Given the description of an element on the screen output the (x, y) to click on. 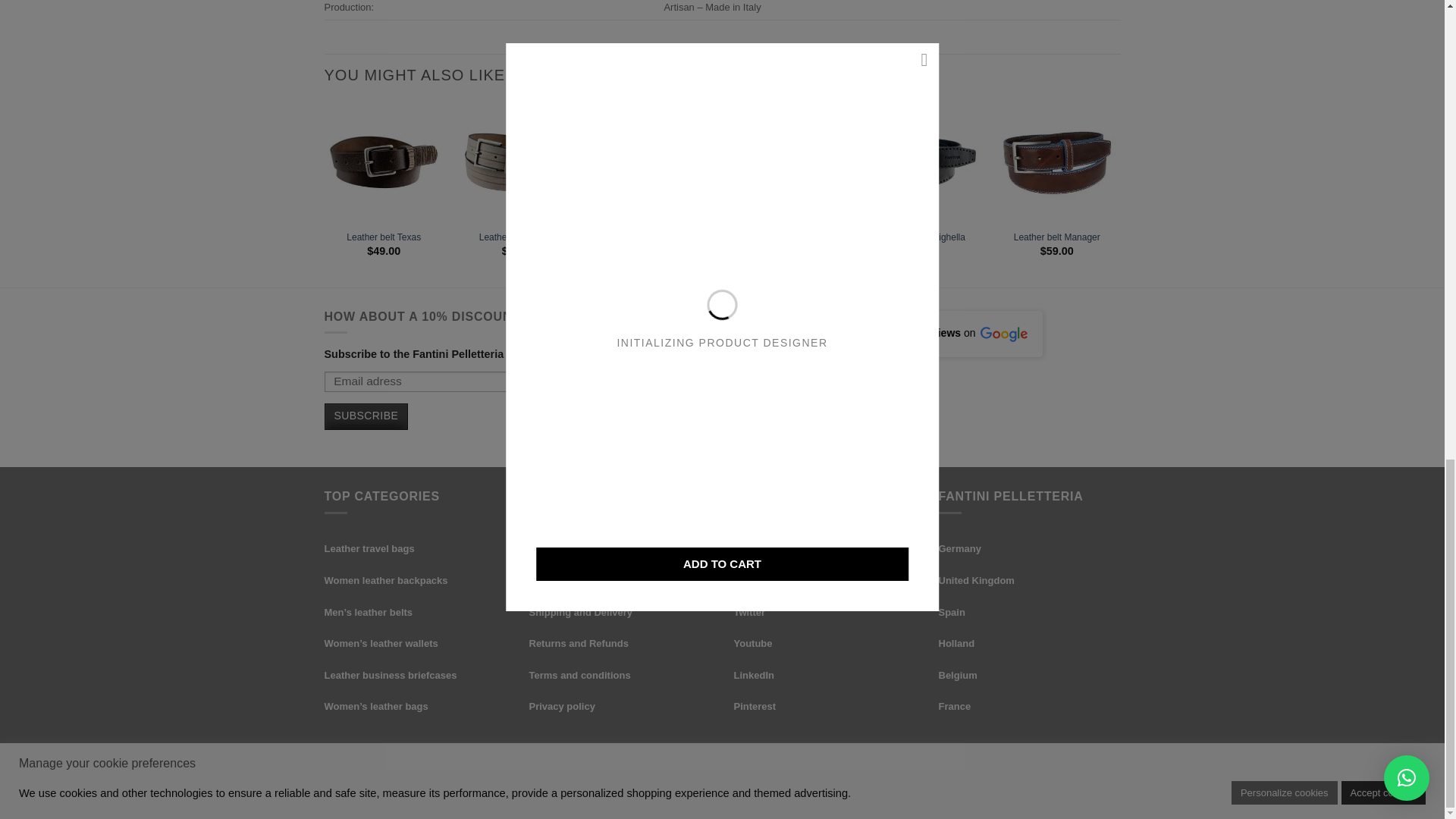
Subscribe (366, 416)
